Given the description of an element on the screen output the (x, y) to click on. 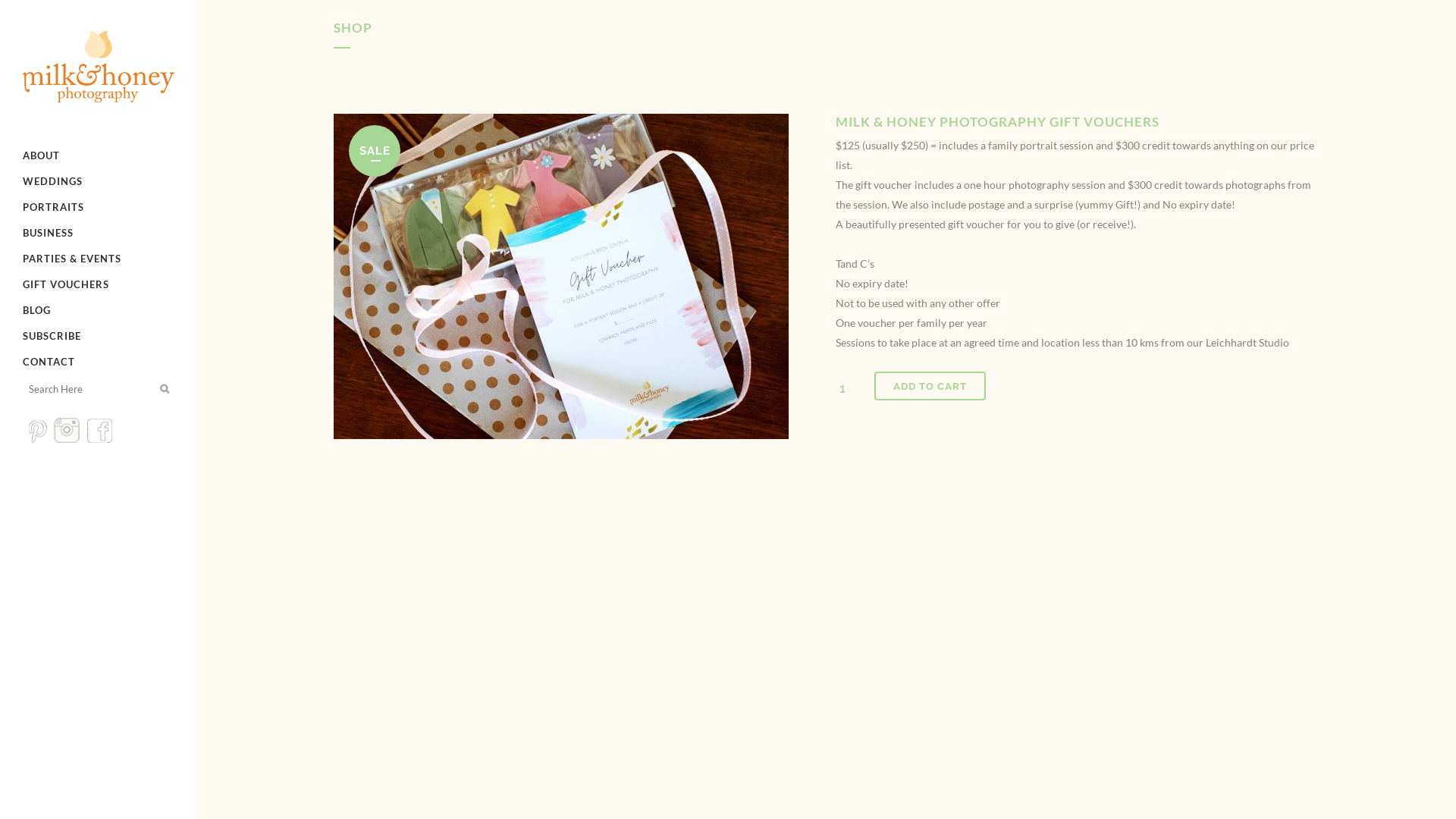
GV2020 Element type: hover (560, 276)
BUSINESS Element type: text (98, 232)
CONTACT Element type: text (98, 361)
PORTRAITS Element type: text (98, 206)
PARTIES & EVENTS Element type: text (98, 258)
ADD TO CART Element type: text (929, 385)
ABOUT Element type: text (98, 155)
SUBSCRIBE Element type: text (98, 335)
WEDDINGS Element type: text (98, 181)
BLOG Element type: text (98, 310)
Qty Element type: hover (847, 387)
GIFT VOUCHERS Element type: text (98, 284)
